Given the description of an element on the screen output the (x, y) to click on. 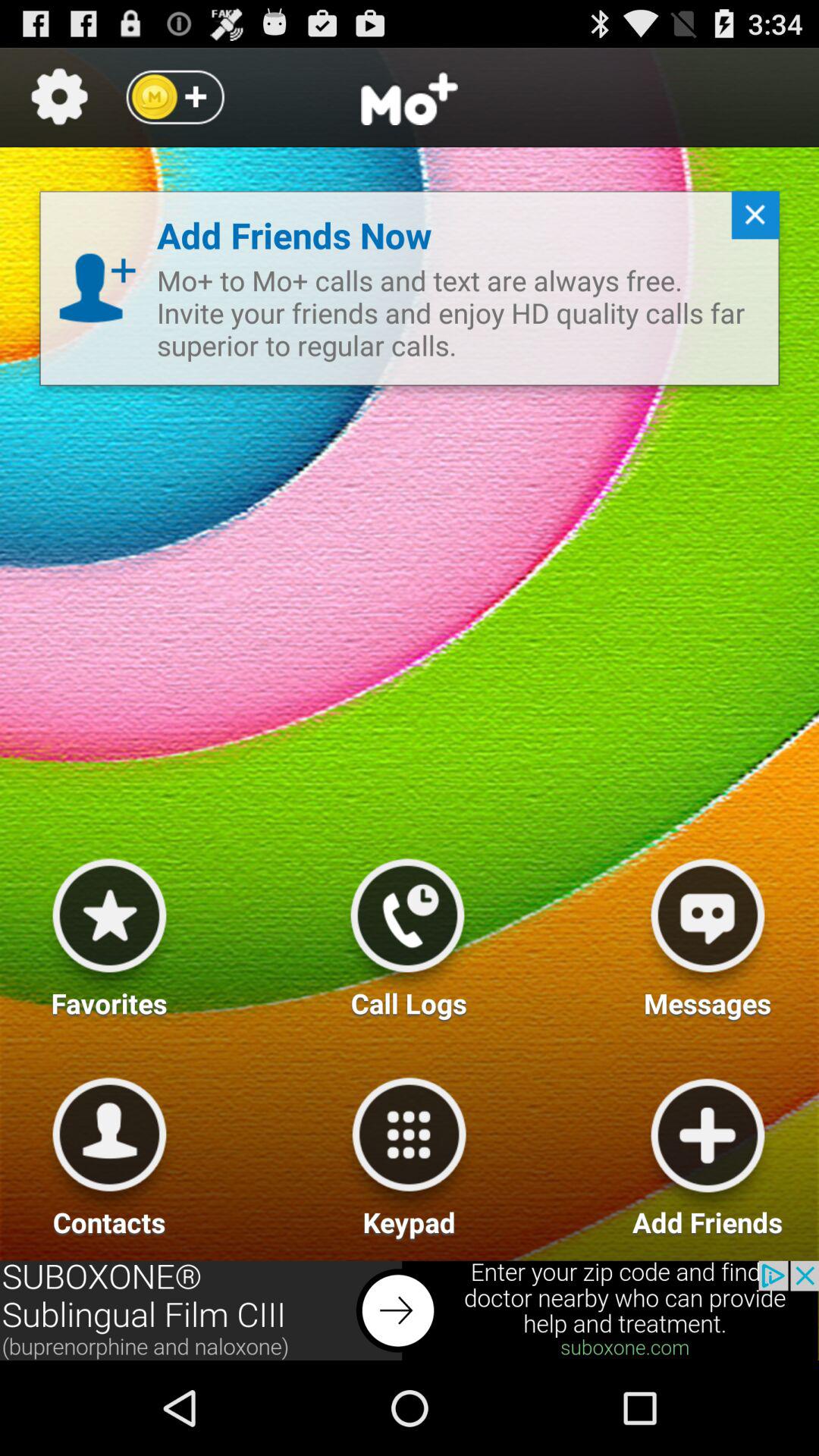
open favorites (109, 932)
